Given the description of an element on the screen output the (x, y) to click on. 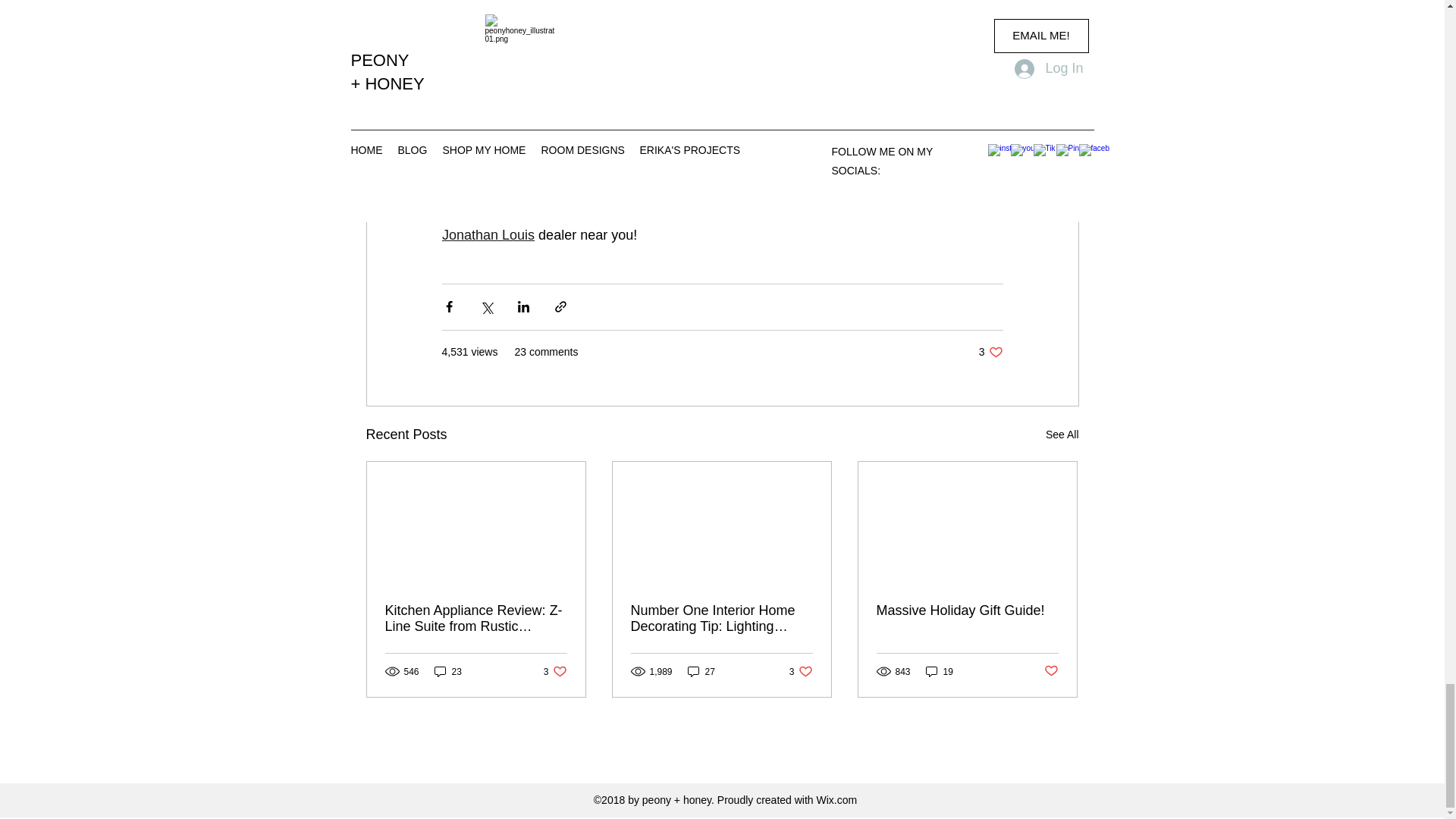
Harris Sectional (893, 111)
Jonathan Louis (487, 132)
HERE (927, 214)
Jonathan Louis (487, 234)
